Given the description of an element on the screen output the (x, y) to click on. 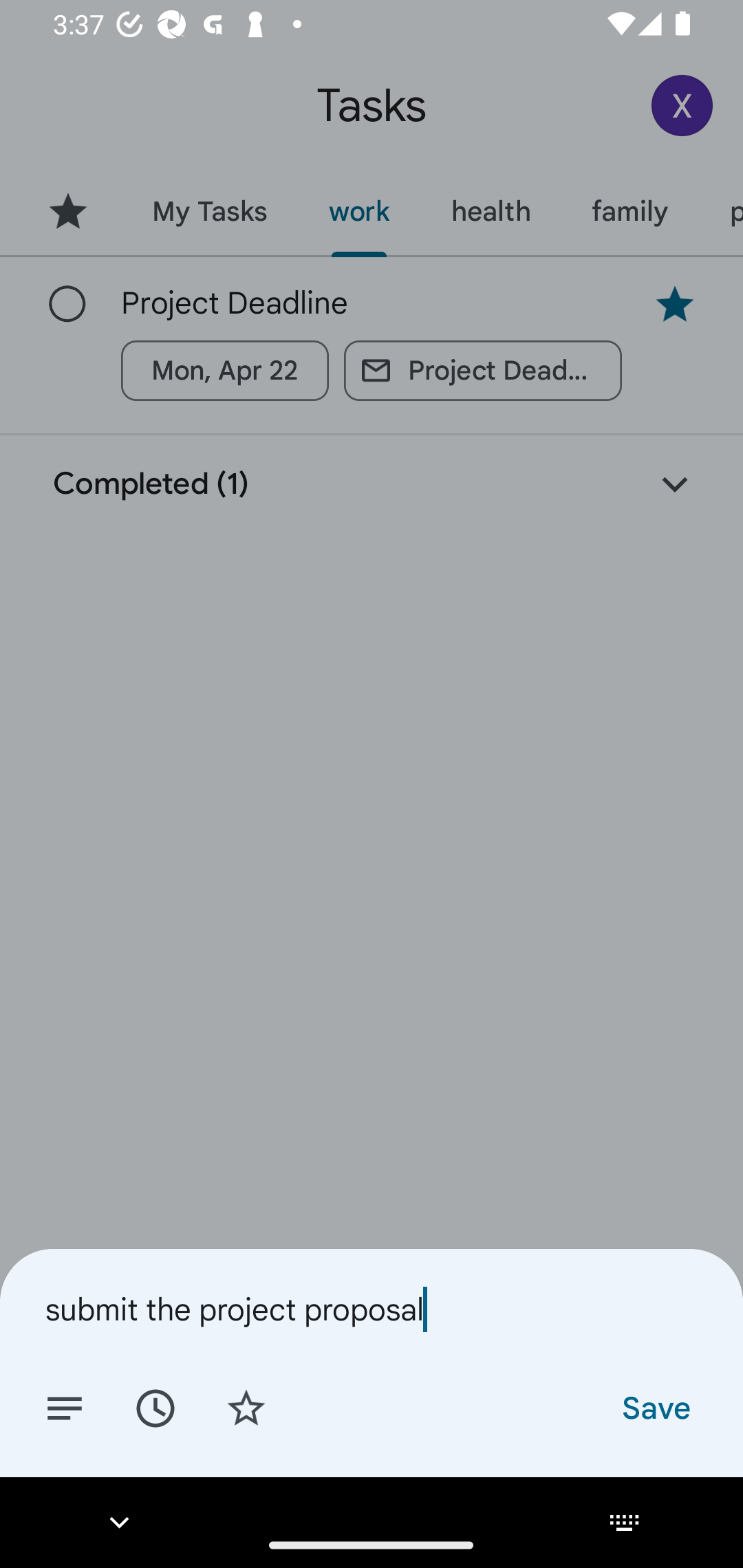
submit the project proposal (371, 1308)
Save (655, 1407)
Add details (64, 1407)
Set date/time (154, 1407)
Add star (245, 1407)
